Given the description of an element on the screen output the (x, y) to click on. 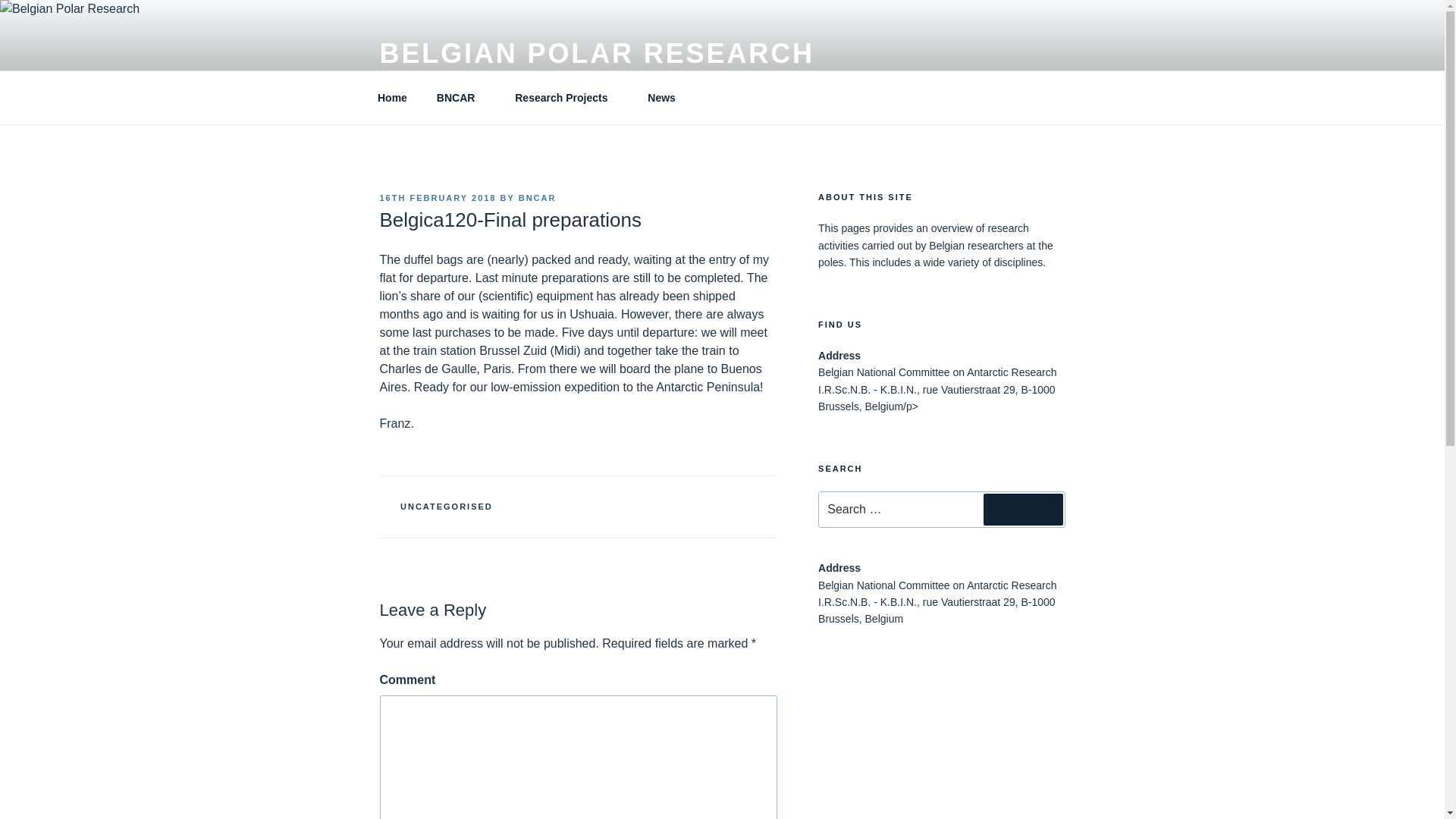
UNCATEGORISED (446, 506)
BELGIAN POLAR RESEARCH (595, 52)
Search (1023, 509)
News (661, 97)
BNCAR (537, 197)
Research Projects (566, 97)
Home (392, 97)
BNCAR (461, 97)
16TH FEBRUARY 2018 (437, 197)
